Given the description of an element on the screen output the (x, y) to click on. 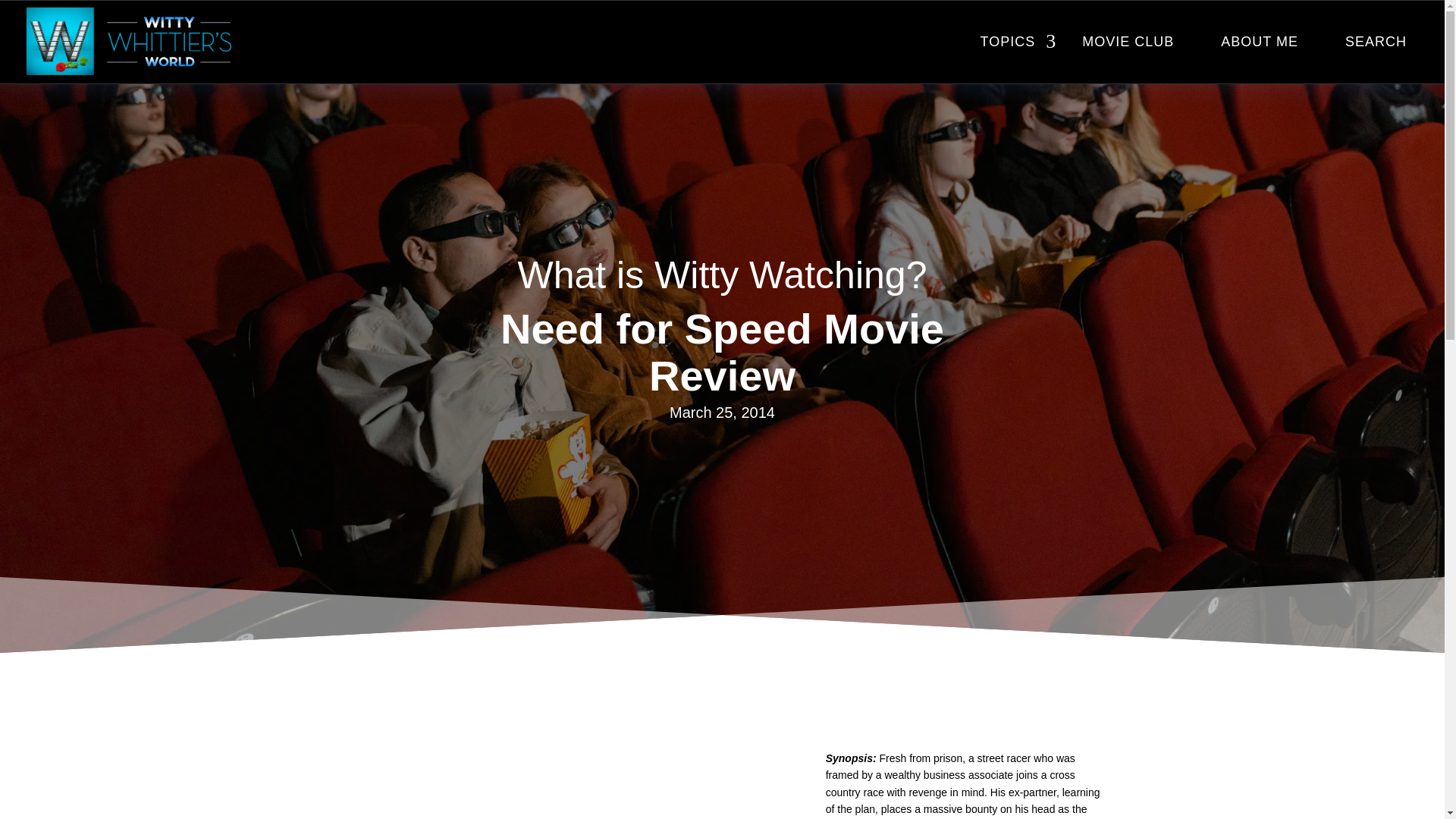
ABOUT ME (1259, 41)
MOVIE CLUB (1128, 41)
SEARCH (1376, 41)
TOPICS (1008, 41)
Need for Speed Movie Review (558, 784)
